Given the description of an element on the screen output the (x, y) to click on. 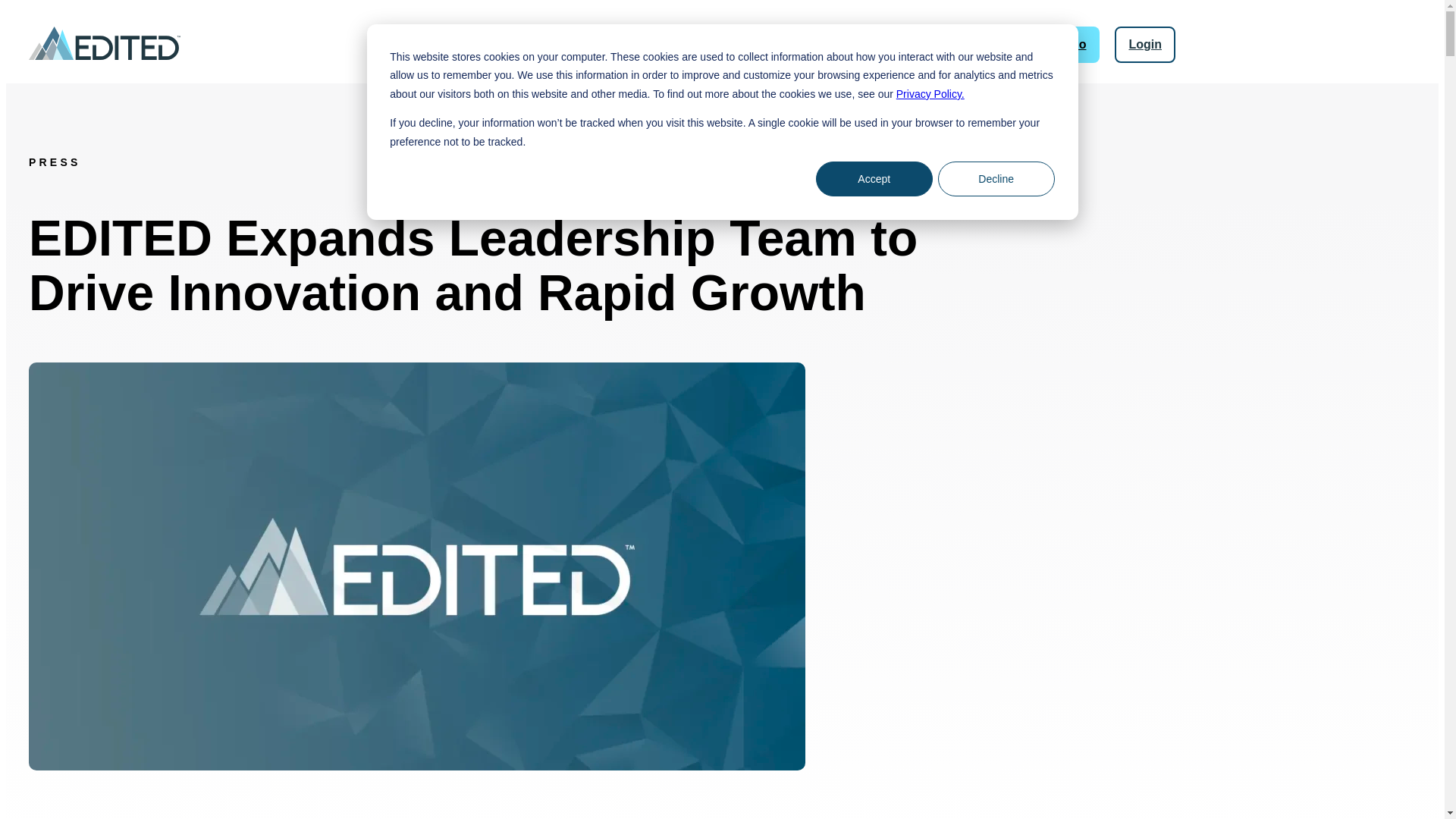
Resources (804, 55)
Products (618, 55)
Company (895, 55)
Solutions (532, 55)
Customers (709, 46)
